Given the description of an element on the screen output the (x, y) to click on. 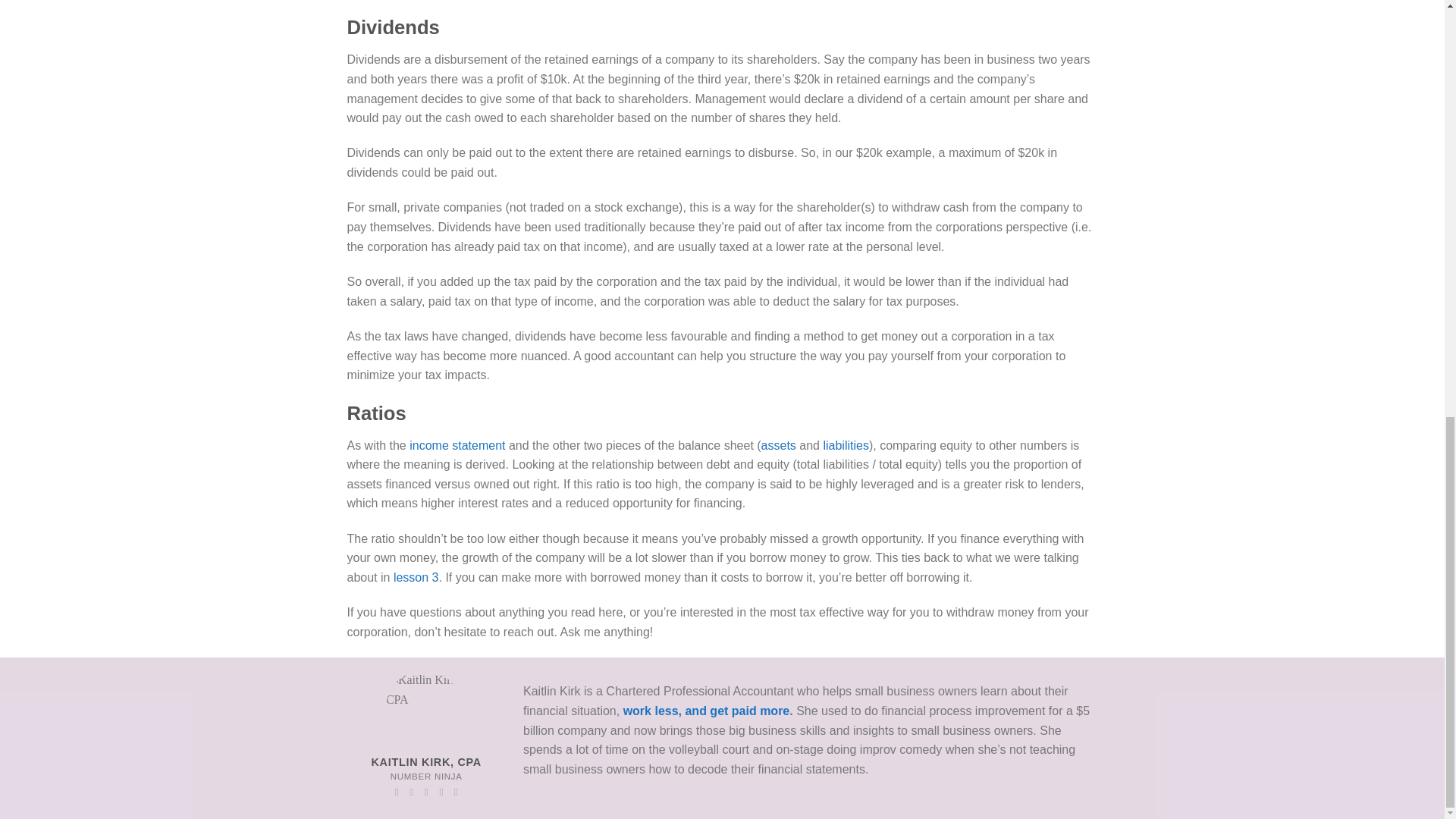
work less, and get paid more (706, 710)
assets (778, 445)
lesson 3 (416, 576)
liabilities (844, 445)
income statement (457, 445)
